Given the description of an element on the screen output the (x, y) to click on. 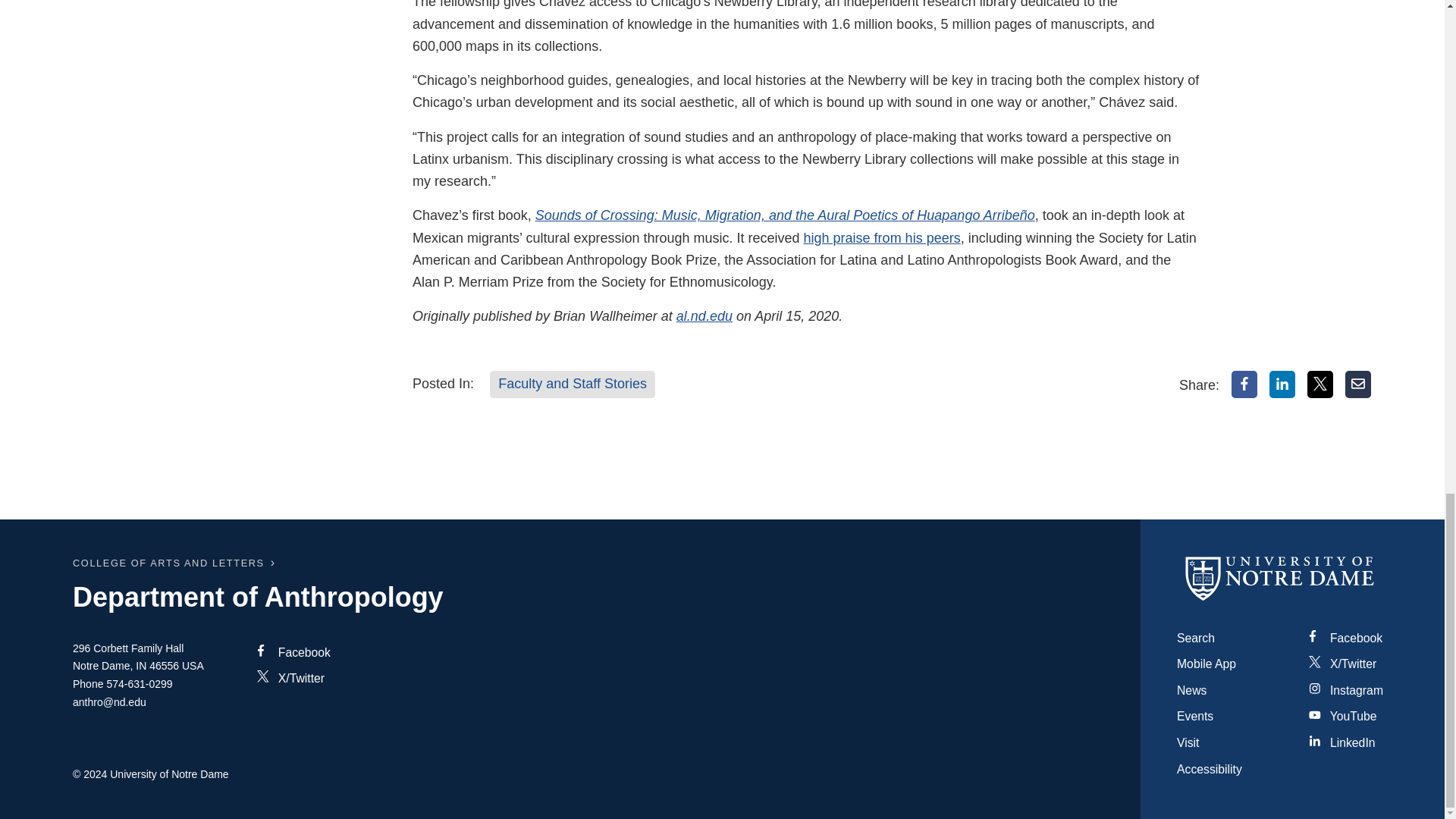
Facebook (1244, 384)
LinkedIn (1282, 384)
Email (1358, 384)
